Given the description of an element on the screen output the (x, y) to click on. 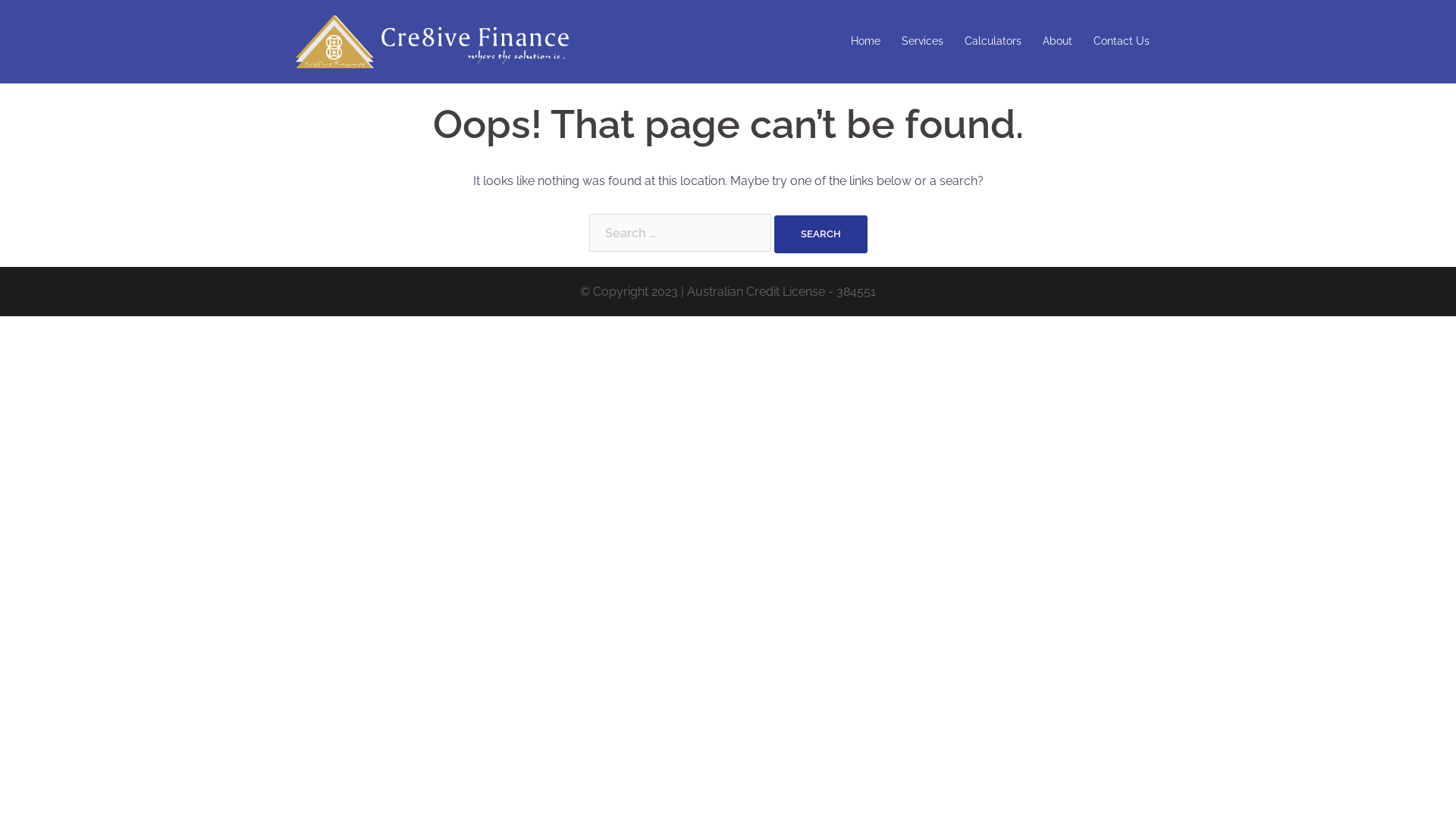
Calculators Element type: text (992, 41)
Home Element type: text (865, 41)
About Element type: text (1057, 41)
Contact Us Element type: text (1121, 41)
Services Element type: text (922, 41)
Search Element type: text (819, 234)
Cre8ive Finance Element type: hover (431, 40)
